Given the description of an element on the screen output the (x, y) to click on. 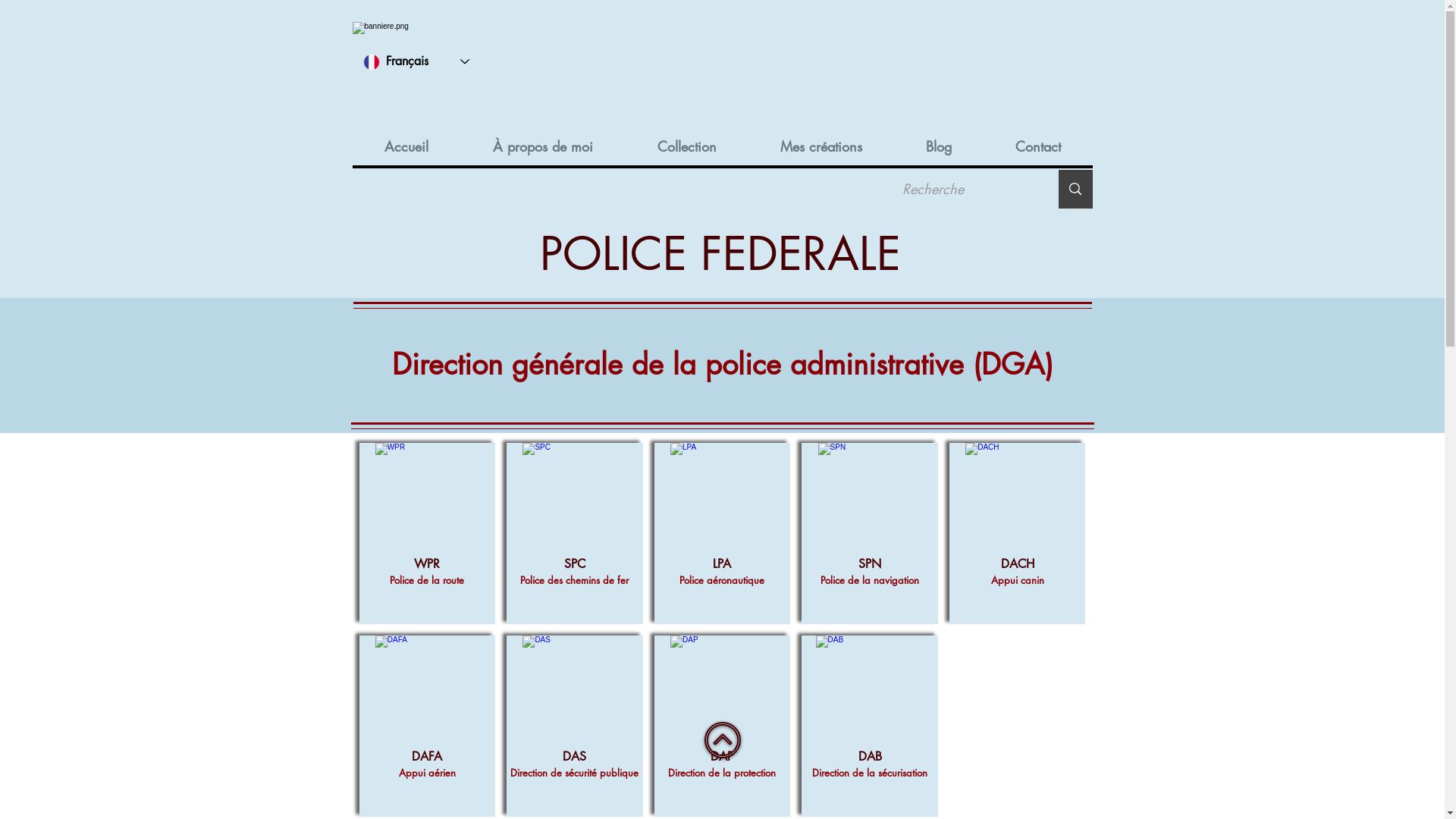
Contact Element type: text (1037, 146)
DACH
Appui canin Element type: text (1017, 533)
SPC
Police des chemins de fer Element type: text (574, 533)
Blog Element type: text (937, 146)
Collection Element type: text (686, 146)
Accueil Element type: text (405, 146)
DAP
Direction de la protection Element type: text (722, 725)
SPN
Police de la navigation Element type: text (869, 533)
WPR
Police de la route Element type: text (427, 533)
